Given the description of an element on the screen output the (x, y) to click on. 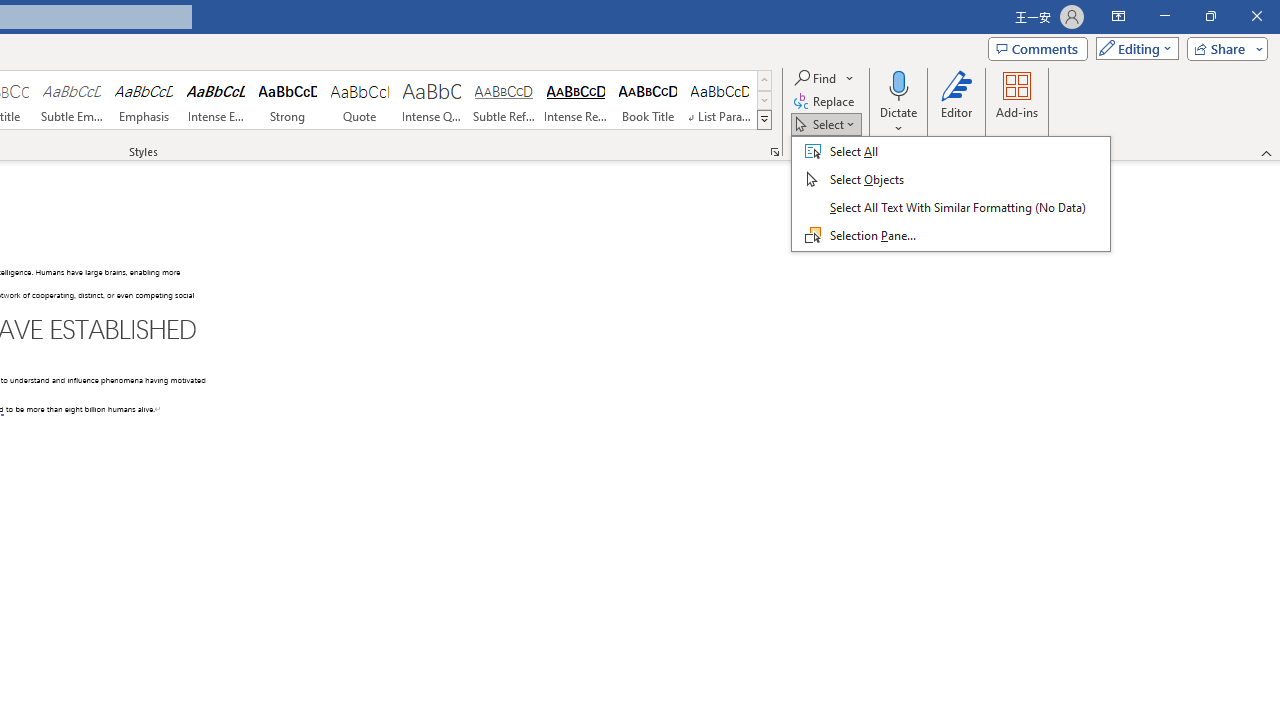
Book Title (647, 100)
Emphasis (143, 100)
Intense Emphasis (216, 100)
